Given the description of an element on the screen output the (x, y) to click on. 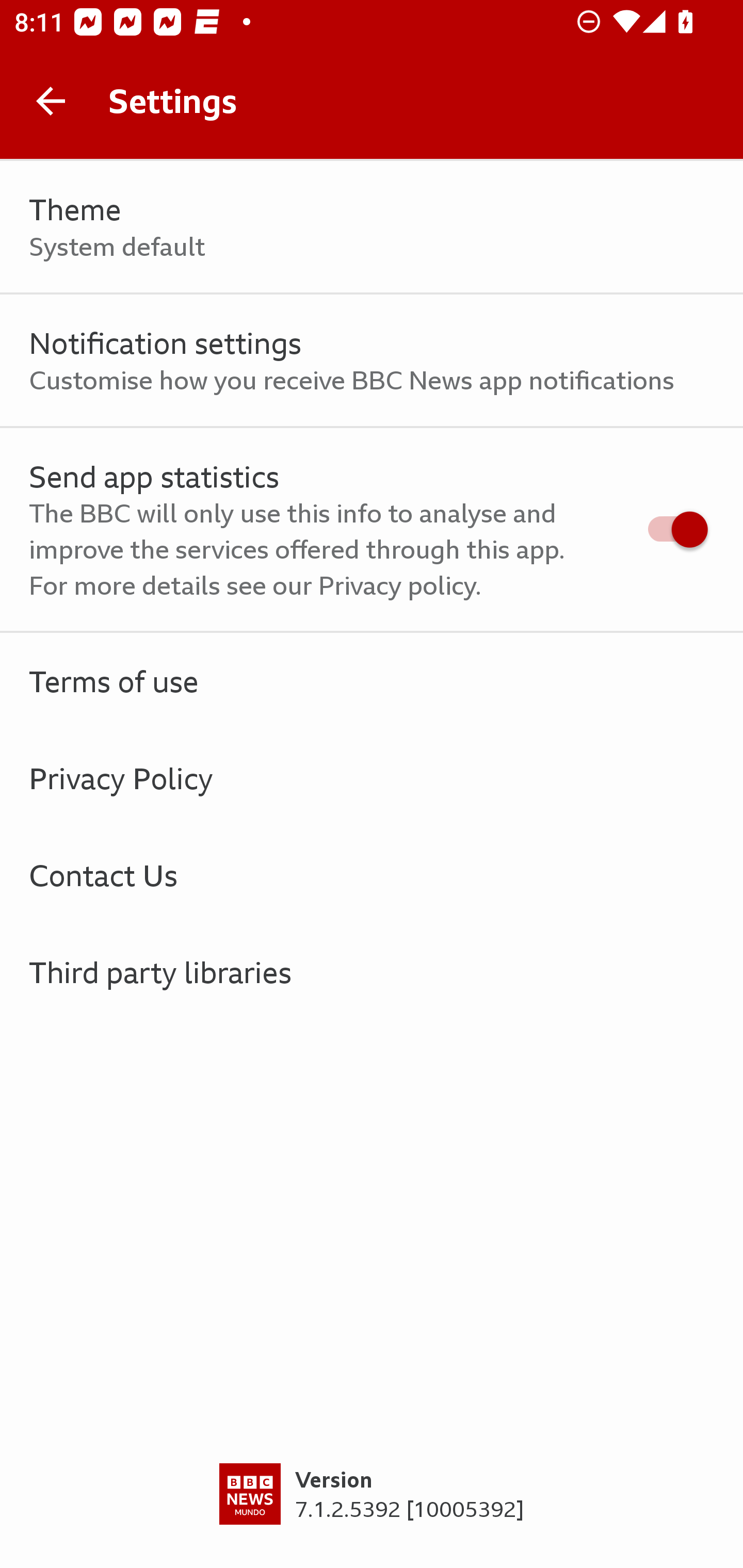
Back (50, 101)
Theme System default (371, 227)
Terms of use (371, 681)
Privacy Policy (371, 777)
Contact Us (371, 874)
Third party libraries (371, 971)
Version 7.1.2.5392 [10005392] (371, 1515)
